Given the description of an element on the screen output the (x, y) to click on. 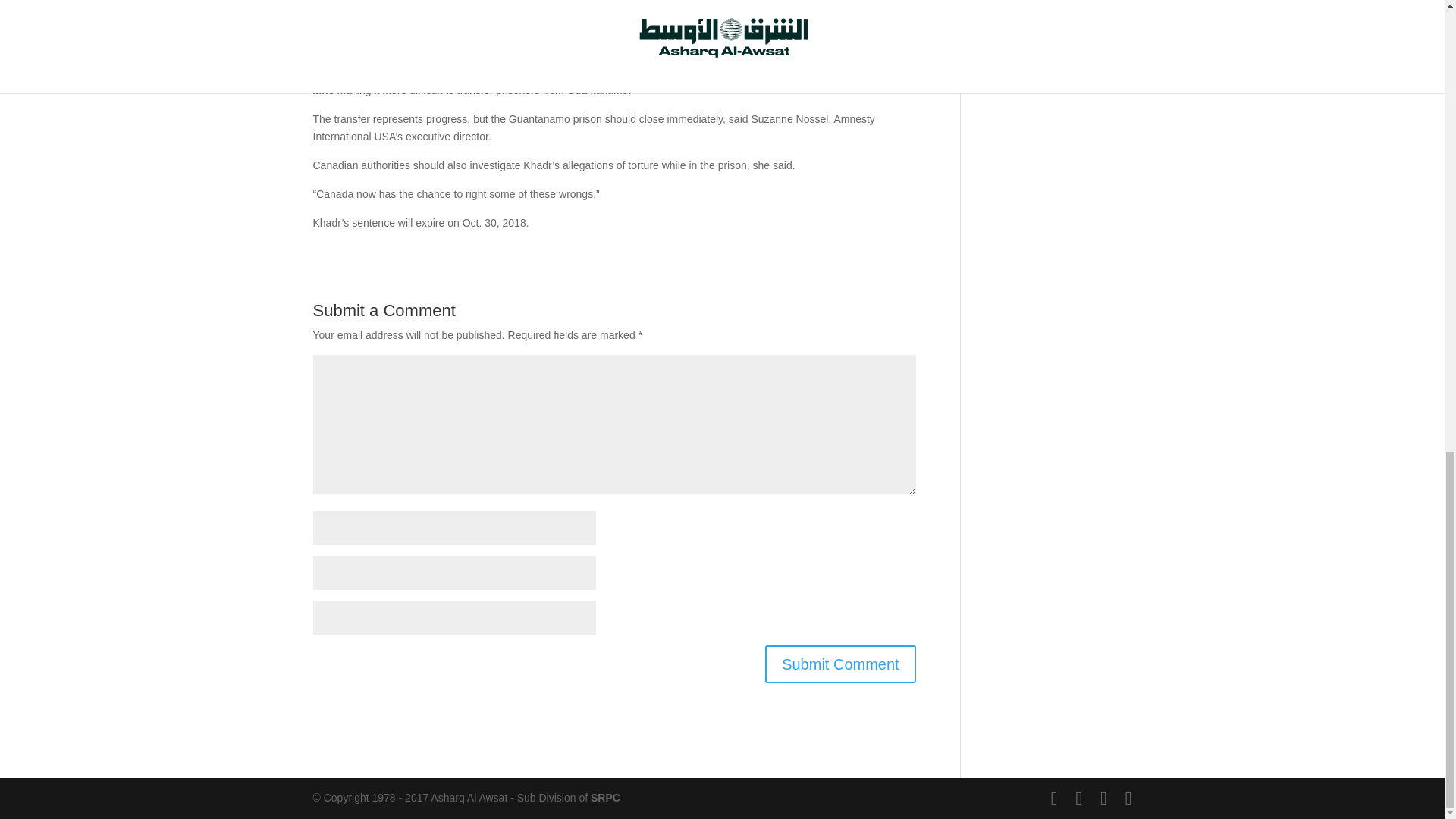
SRPC (605, 797)
Submit Comment (840, 664)
Submit Comment (840, 664)
